Given the description of an element on the screen output the (x, y) to click on. 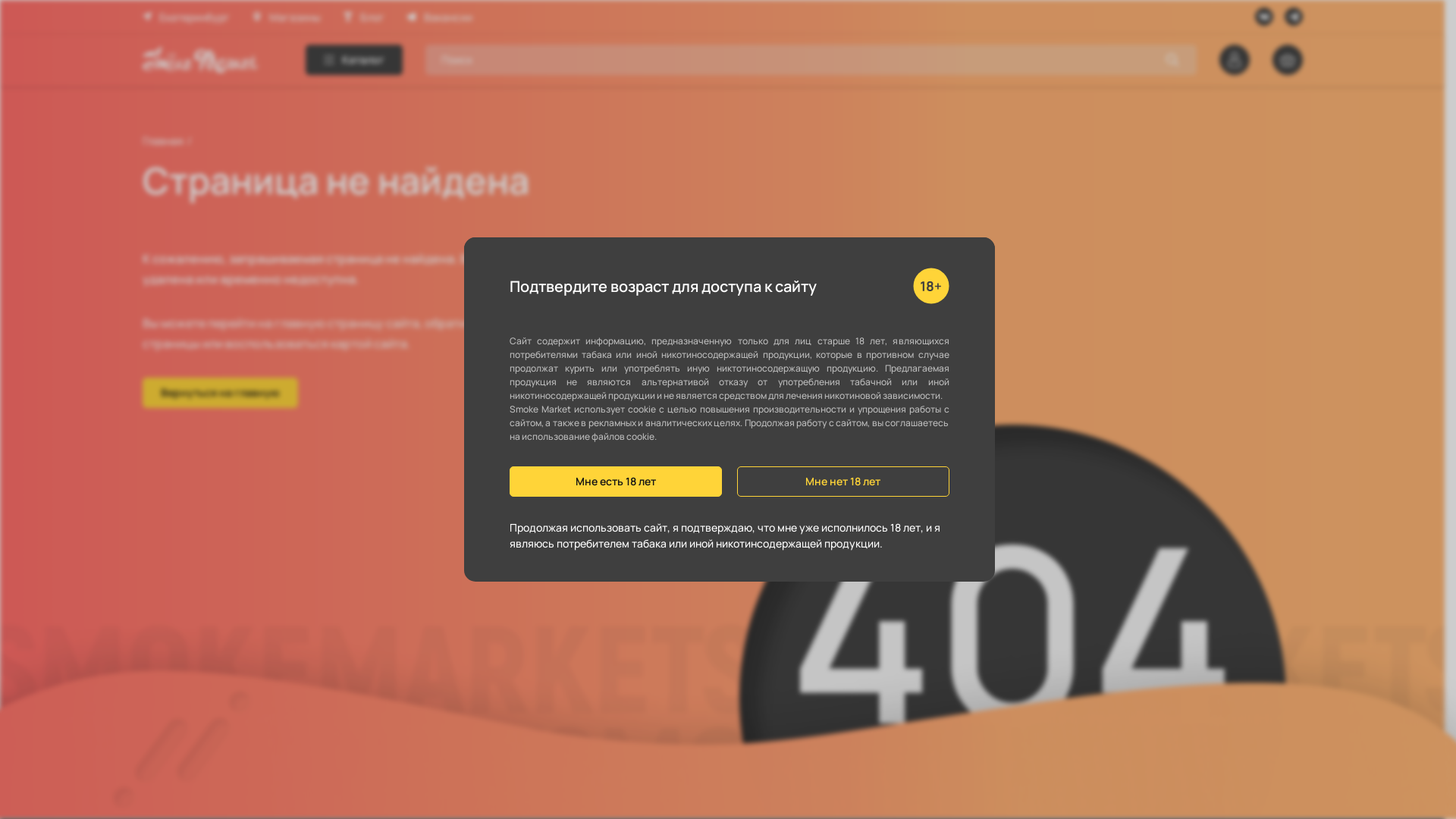
Telegram Element type: hover (1293, 16)
